Given the description of an element on the screen output the (x, y) to click on. 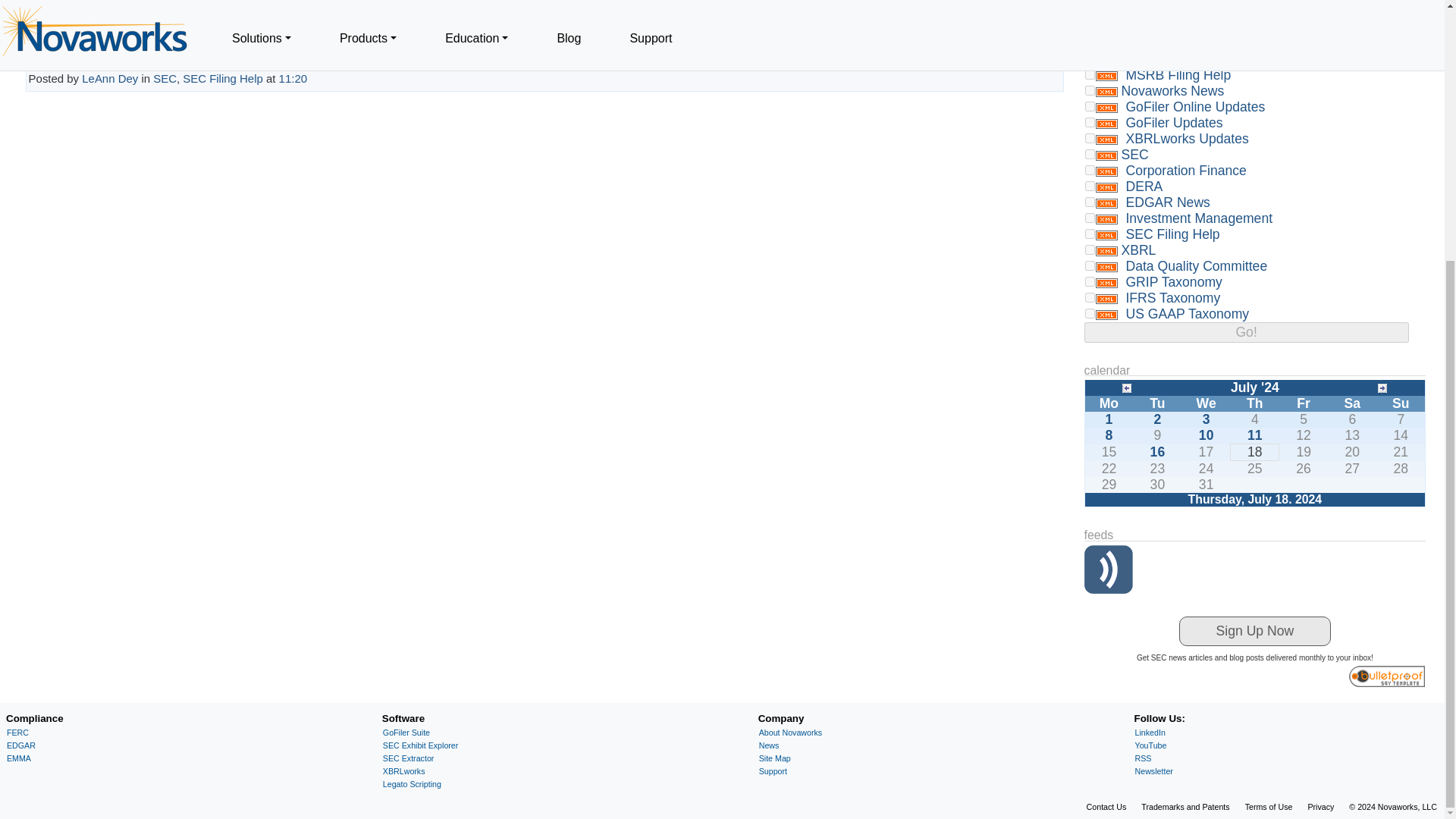
32 (1090, 74)
31 (1090, 42)
33 (1090, 58)
24 (1090, 10)
LeAnn Dey (109, 78)
30 (1090, 26)
Information and events related to investor education. (1176, 11)
SEC Filing Help (223, 78)
7 (1090, 90)
11:20 (293, 78)
SEC (164, 78)
Important news and notices for the EMMA Filing Community. (1161, 43)
